Given the description of an element on the screen output the (x, y) to click on. 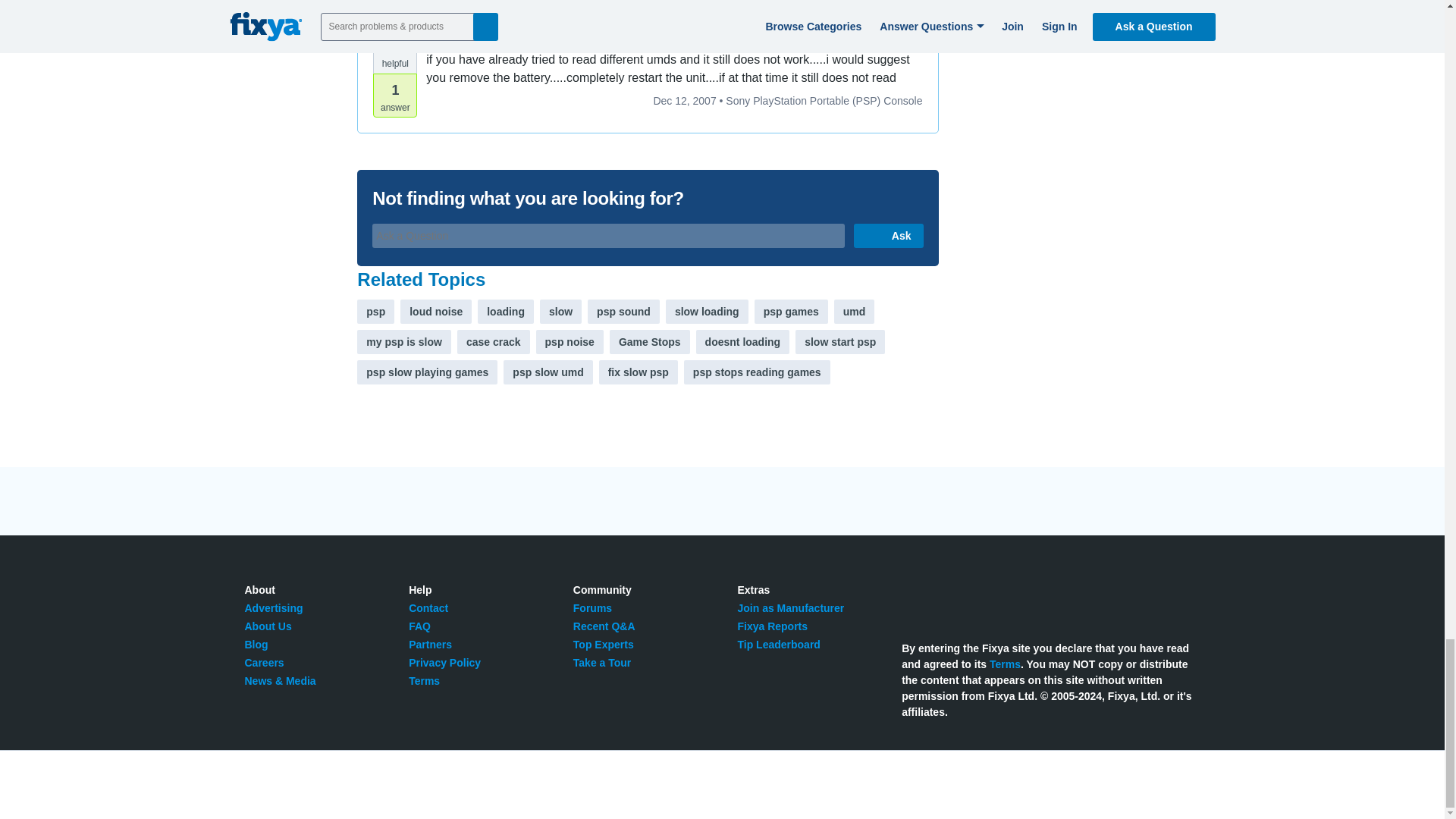
Ask (888, 235)
Follow Fixya on Twitter (910, 597)
